Given the description of an element on the screen output the (x, y) to click on. 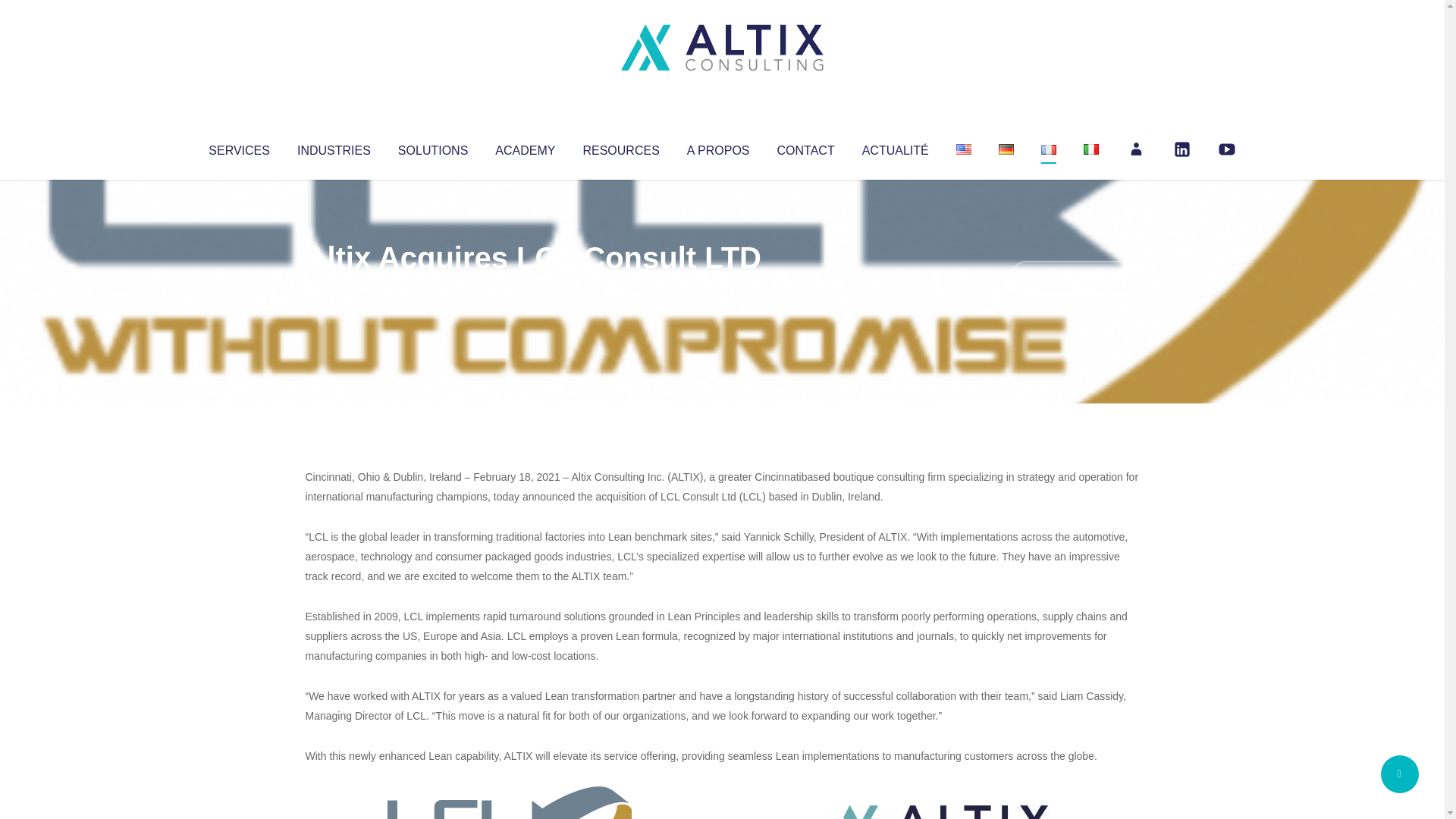
Articles par Altix (333, 287)
Altix (333, 287)
ACADEMY (524, 146)
INDUSTRIES (334, 146)
RESOURCES (620, 146)
SOLUTIONS (432, 146)
A PROPOS (718, 146)
No Comments (1073, 278)
Uncategorized (530, 287)
SERVICES (238, 146)
